Given the description of an element on the screen output the (x, y) to click on. 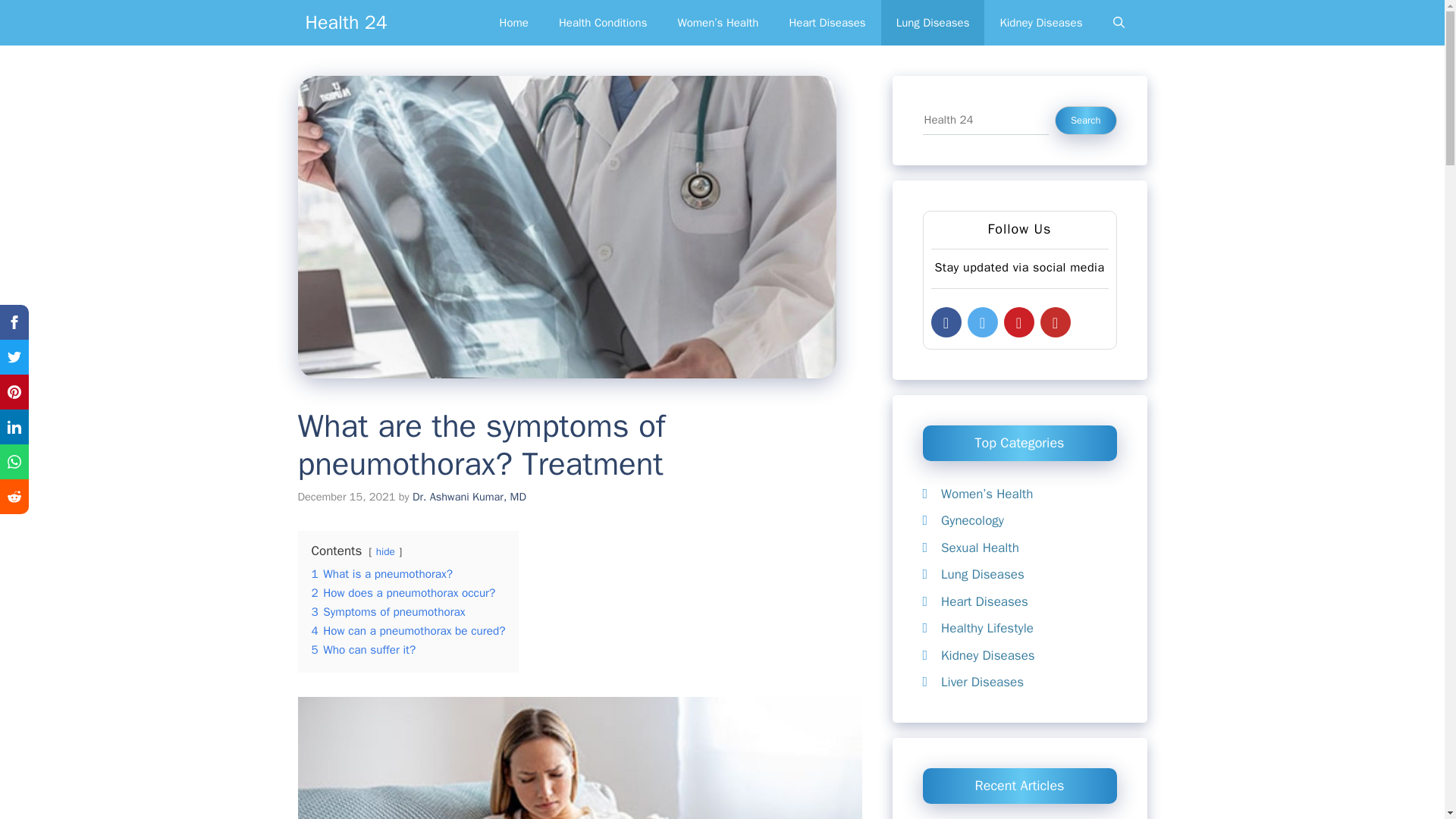
Sexual Health (979, 547)
2 How does a pneumothorax occur? (403, 592)
Home (513, 22)
3 Symptoms of pneumothorax (387, 611)
View all posts by Dr. Ashwani Kumar, MD (468, 496)
Kidney Diseases (987, 655)
1 What is a pneumothorax? (381, 573)
Lung Diseases (932, 22)
Kidney Diseases (1040, 22)
Health 24 (345, 22)
4 How can a pneumothorax be cured? (408, 630)
Heart Diseases (826, 22)
Dr. Ashwani Kumar, MD (468, 496)
5 Who can suffer it? (362, 649)
Heart Diseases (983, 600)
